Given the description of an element on the screen output the (x, y) to click on. 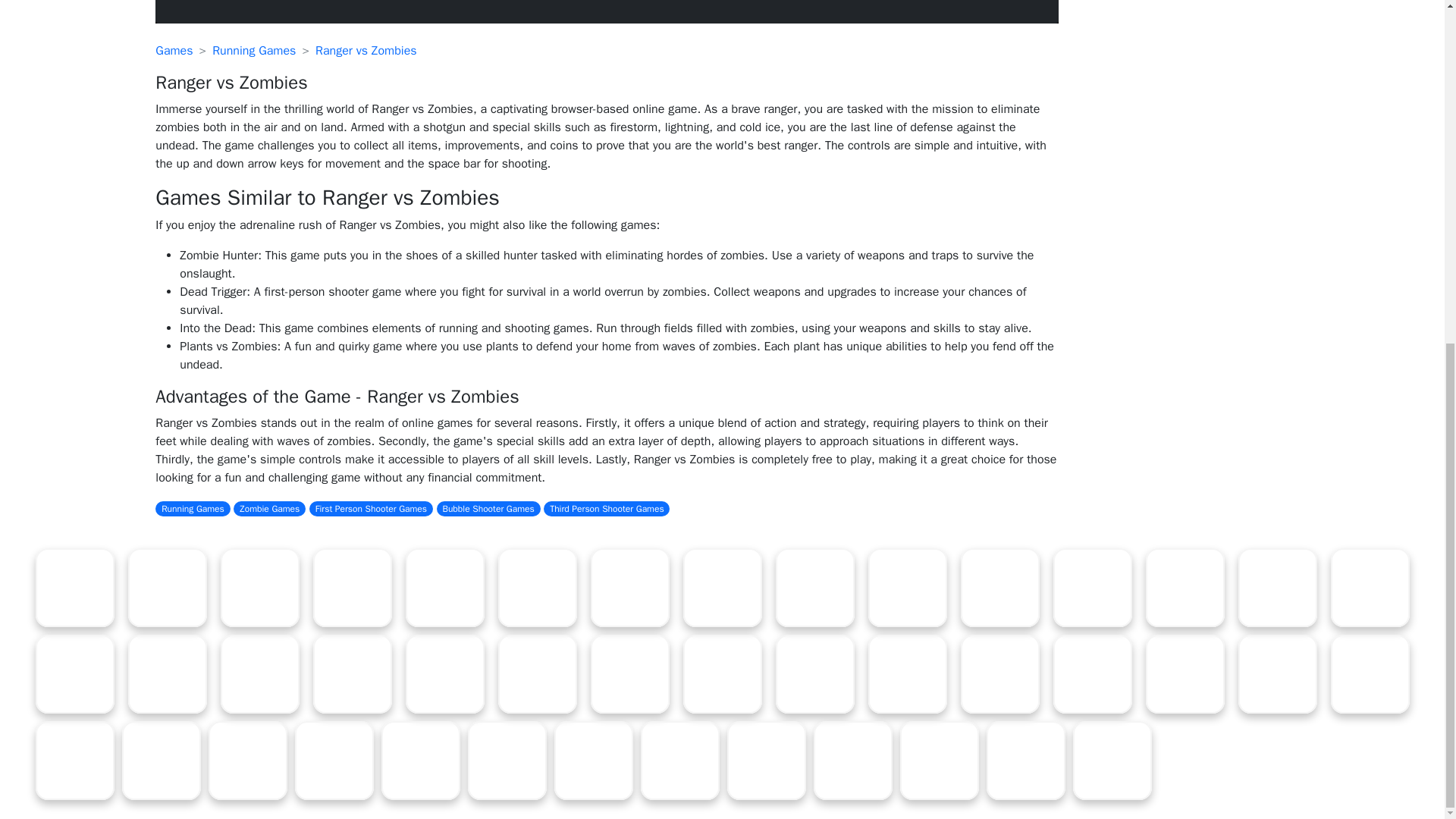
Third Person Shooter Games (606, 508)
Ranger vs Zombies (365, 50)
Roll Sky Ball 3D (167, 587)
Cooking Frenzy (443, 587)
First Person Shooter Games (370, 508)
Barbie with Twins (721, 587)
Running Games (192, 508)
Bubble Shooter Games (488, 508)
Tap Candy : Sweets Clicker (906, 587)
Zombie Games (268, 508)
